Given the description of an element on the screen output the (x, y) to click on. 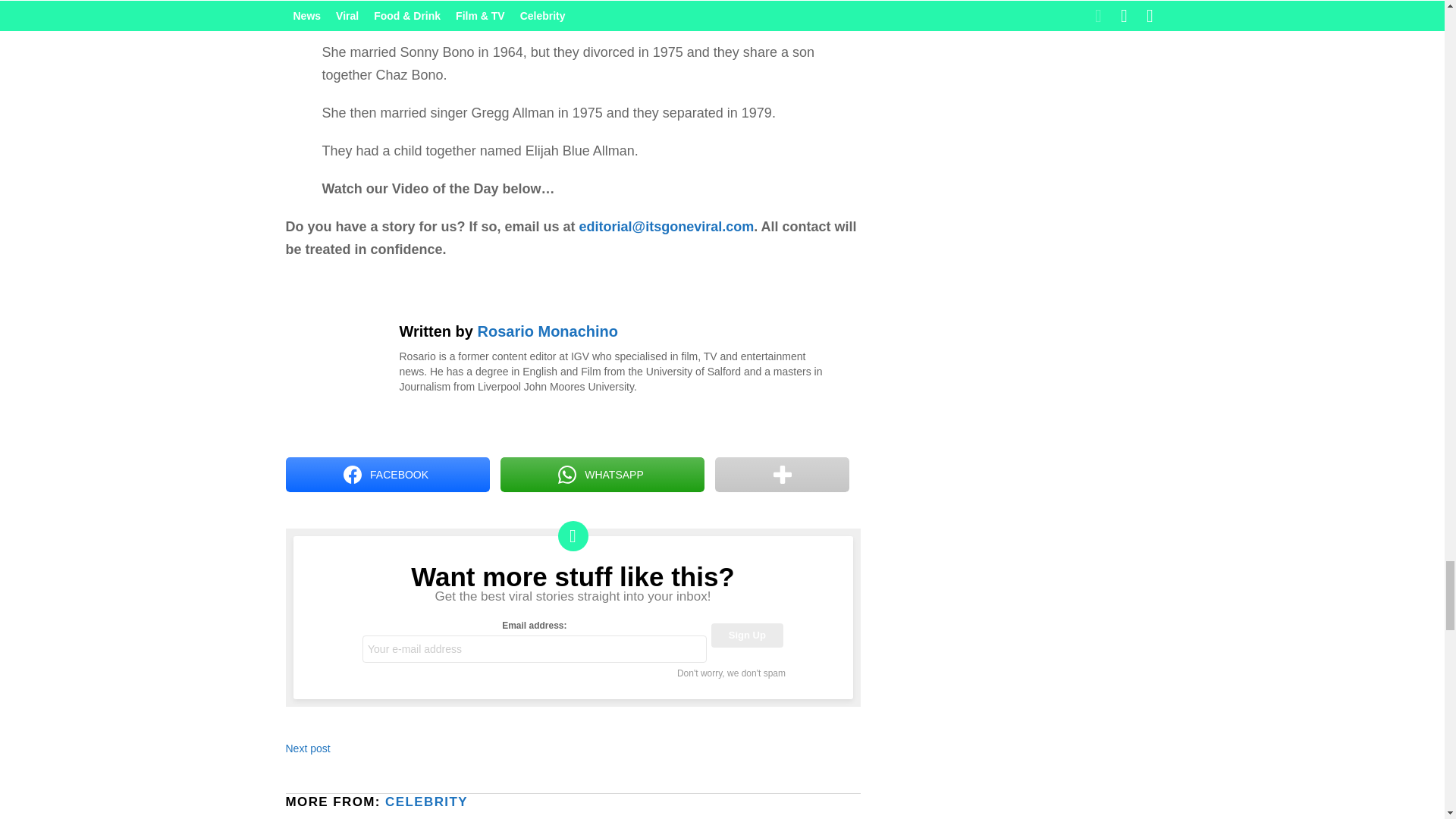
Share on More Button (781, 474)
Share on WhatsApp (602, 474)
Share on Facebook (387, 474)
Sign up (747, 635)
